Given the description of an element on the screen output the (x, y) to click on. 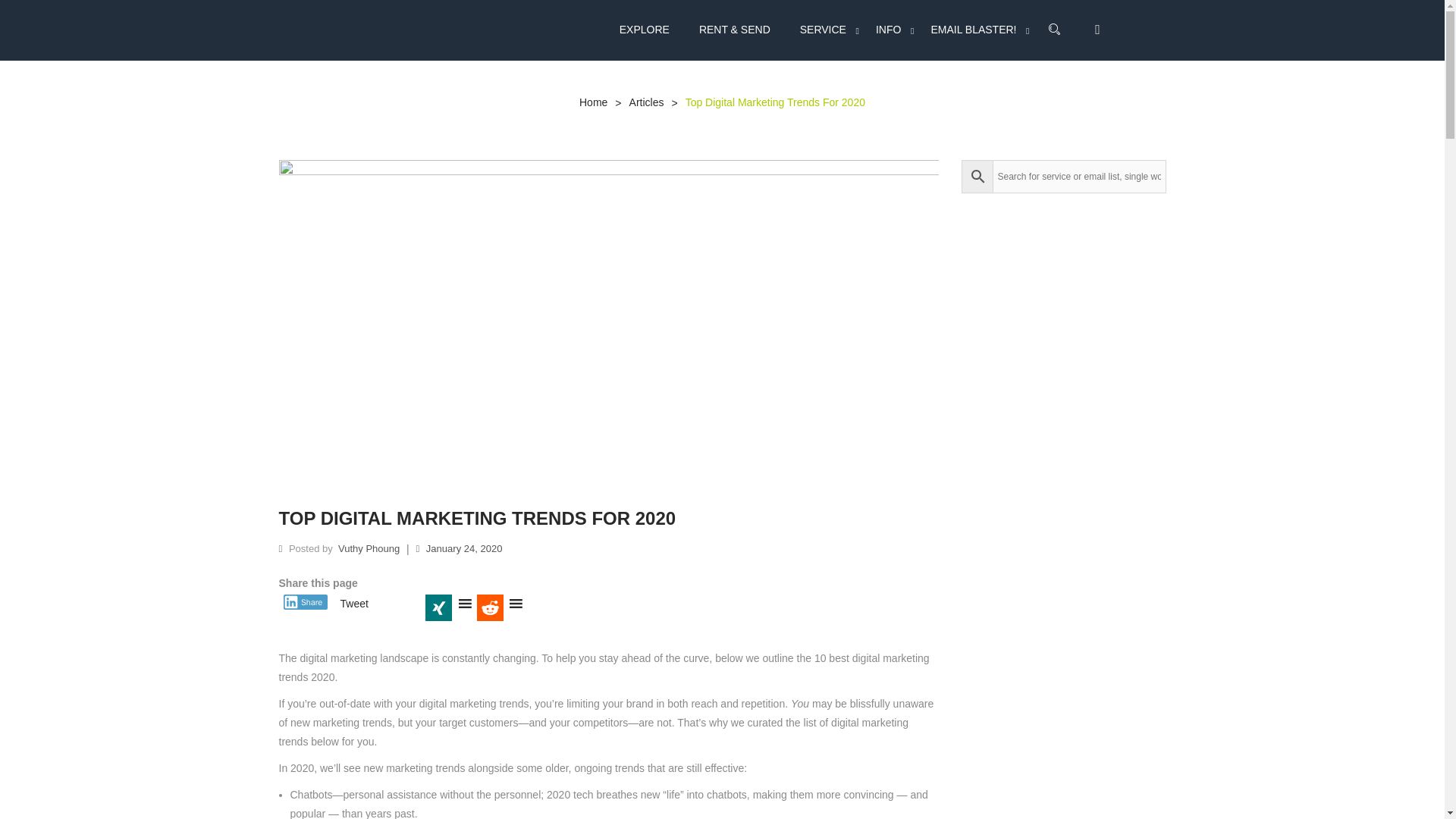
xing (449, 607)
Reddit (501, 607)
EMAIL BLASTER! (973, 30)
EXPLORE (651, 30)
INFO (888, 30)
SERVICE (823, 30)
